Given the description of an element on the screen output the (x, y) to click on. 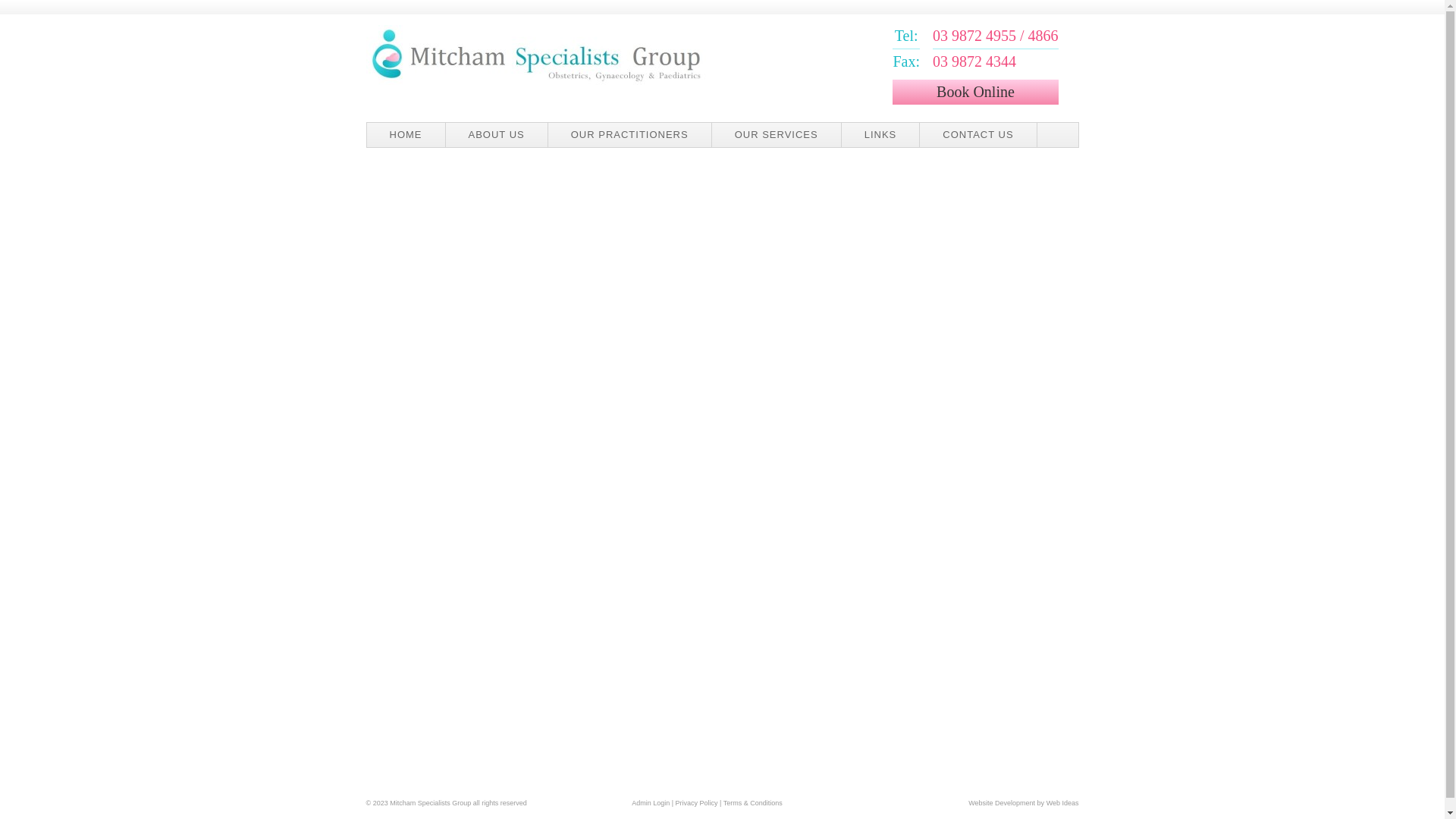
ABOUT US Element type: text (496, 134)
OUR PRACTITIONERS Element type: text (630, 134)
HOME Element type: text (406, 134)
Web Ideas Element type: text (1062, 802)
Website Development Element type: text (1001, 802)
Terms & Conditions Element type: text (752, 802)
OUR SERVICES Element type: text (776, 134)
Book Online Element type: text (974, 91)
Privacy Policy Element type: text (696, 802)
LINKS Element type: text (880, 134)
CONTACT US Element type: text (977, 134)
Admin Login Element type: text (650, 802)
